Given the description of an element on the screen output the (x, y) to click on. 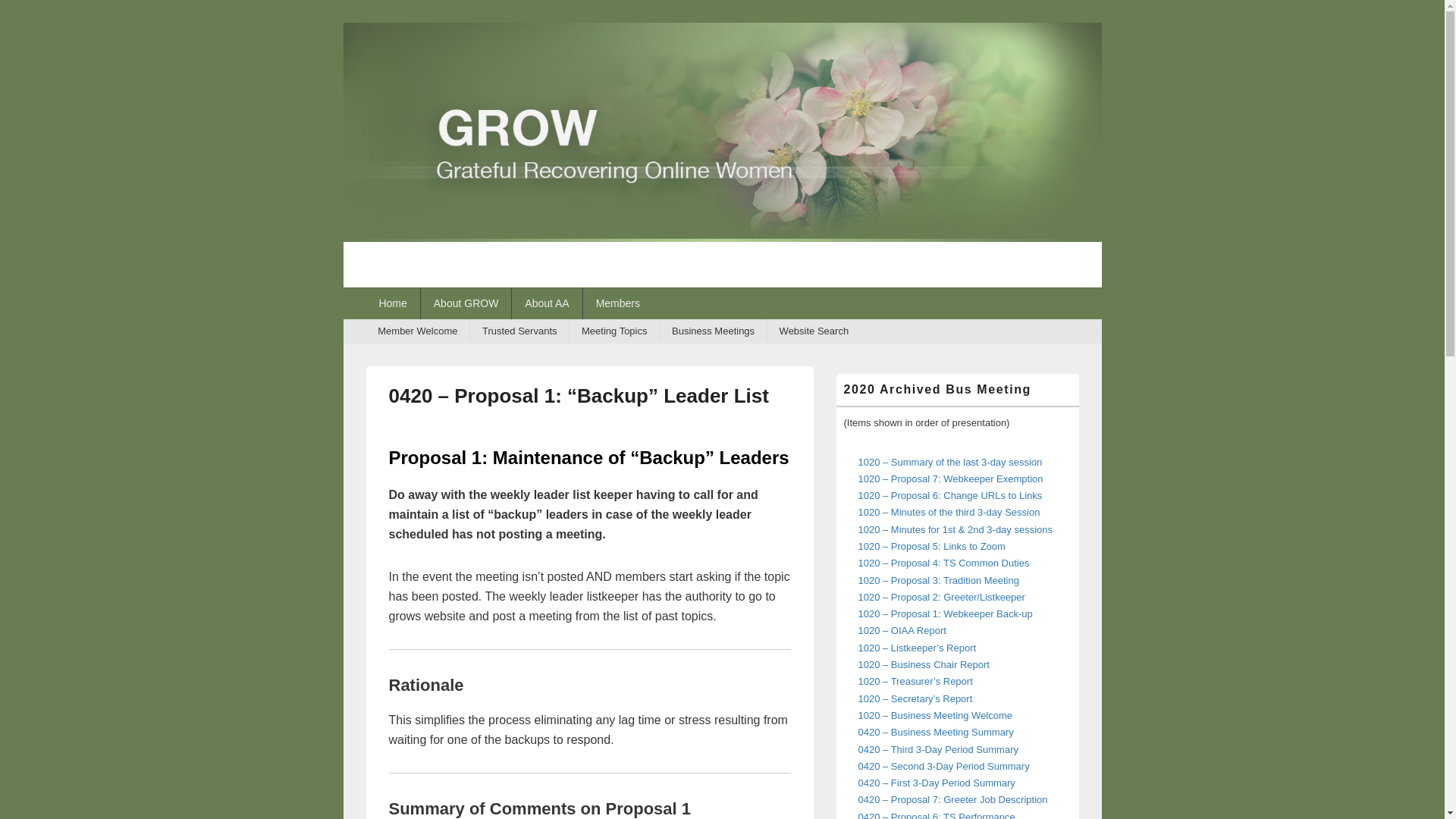
Member Welcome (416, 331)
Trusted Servants (519, 331)
Home (392, 303)
About GROW (466, 303)
Members (617, 303)
About AA (546, 303)
GROW (721, 237)
